Given the description of an element on the screen output the (x, y) to click on. 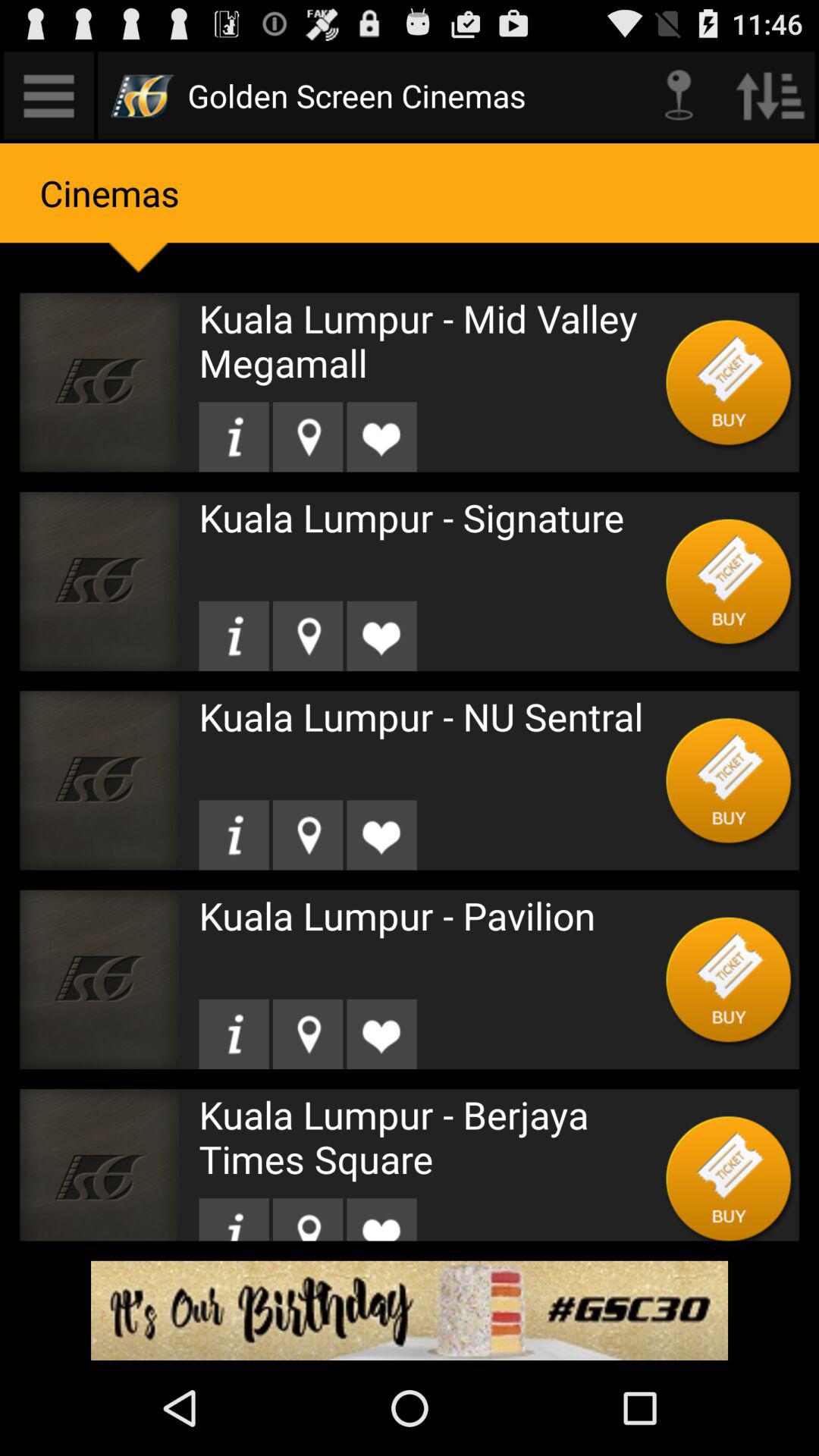
go to favorite (381, 636)
